Given the description of an element on the screen output the (x, y) to click on. 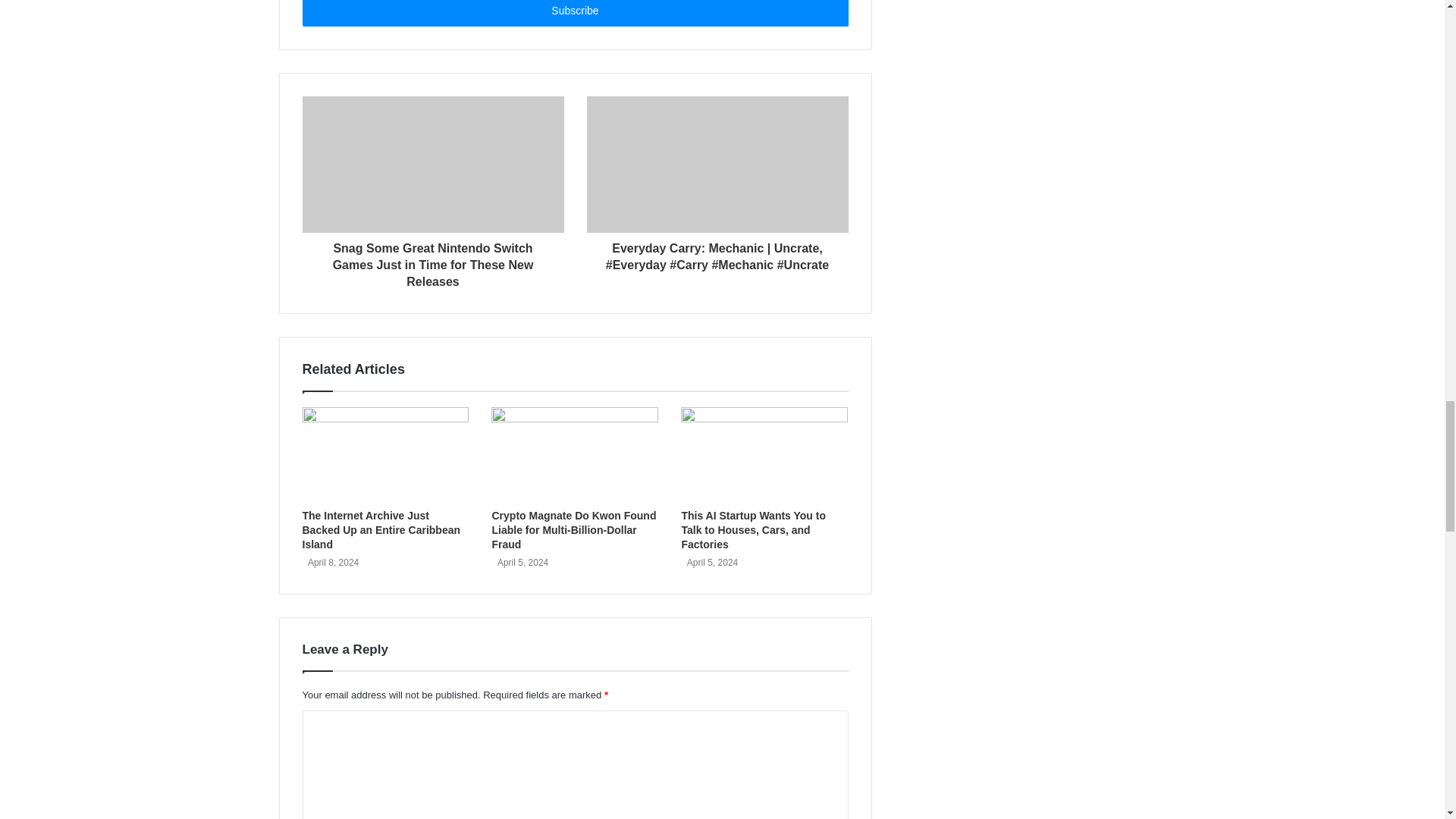
Subscribe (574, 13)
